Given the description of an element on the screen output the (x, y) to click on. 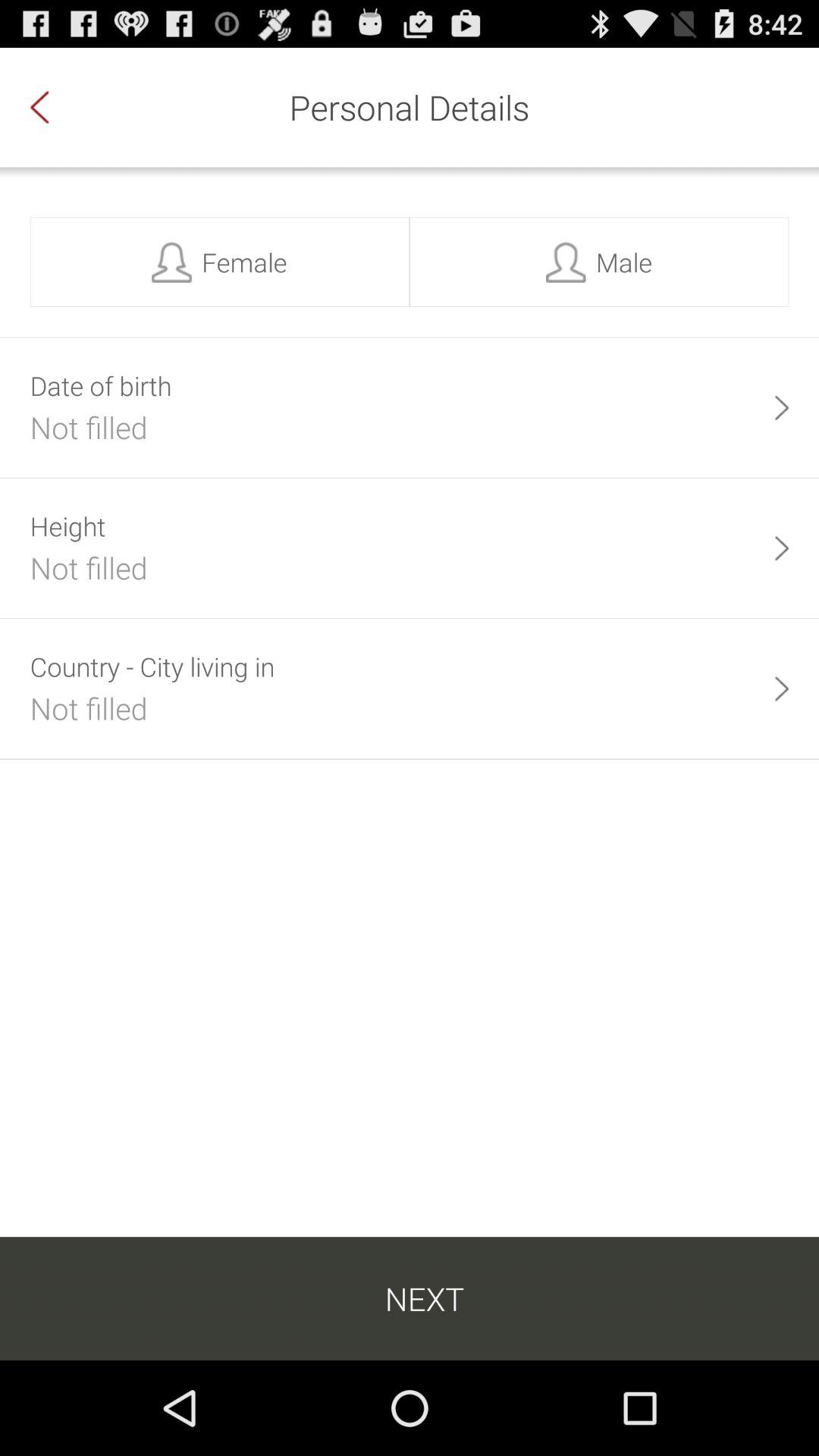
select the item next to personal details (55, 107)
